Given the description of an element on the screen output the (x, y) to click on. 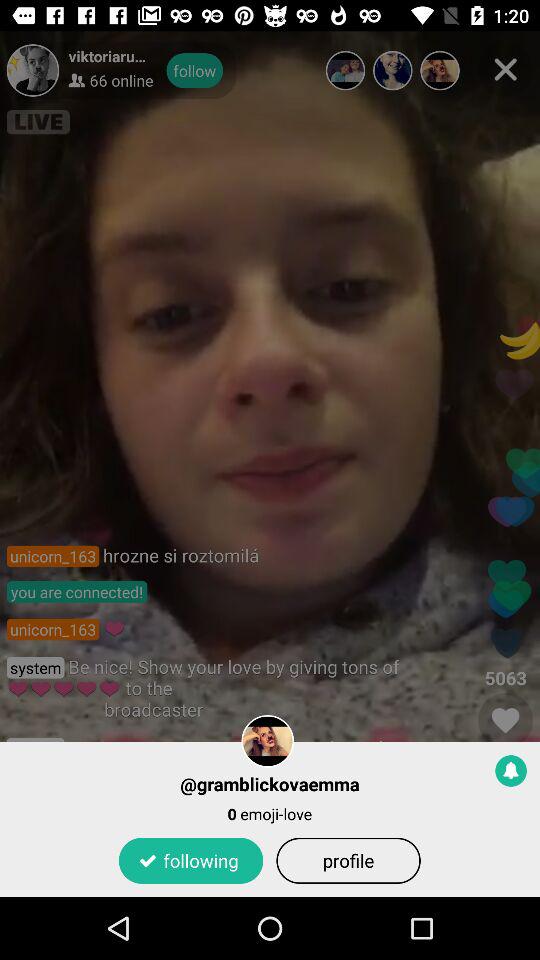
flip until profile app (348, 860)
